Given the description of an element on the screen output the (x, y) to click on. 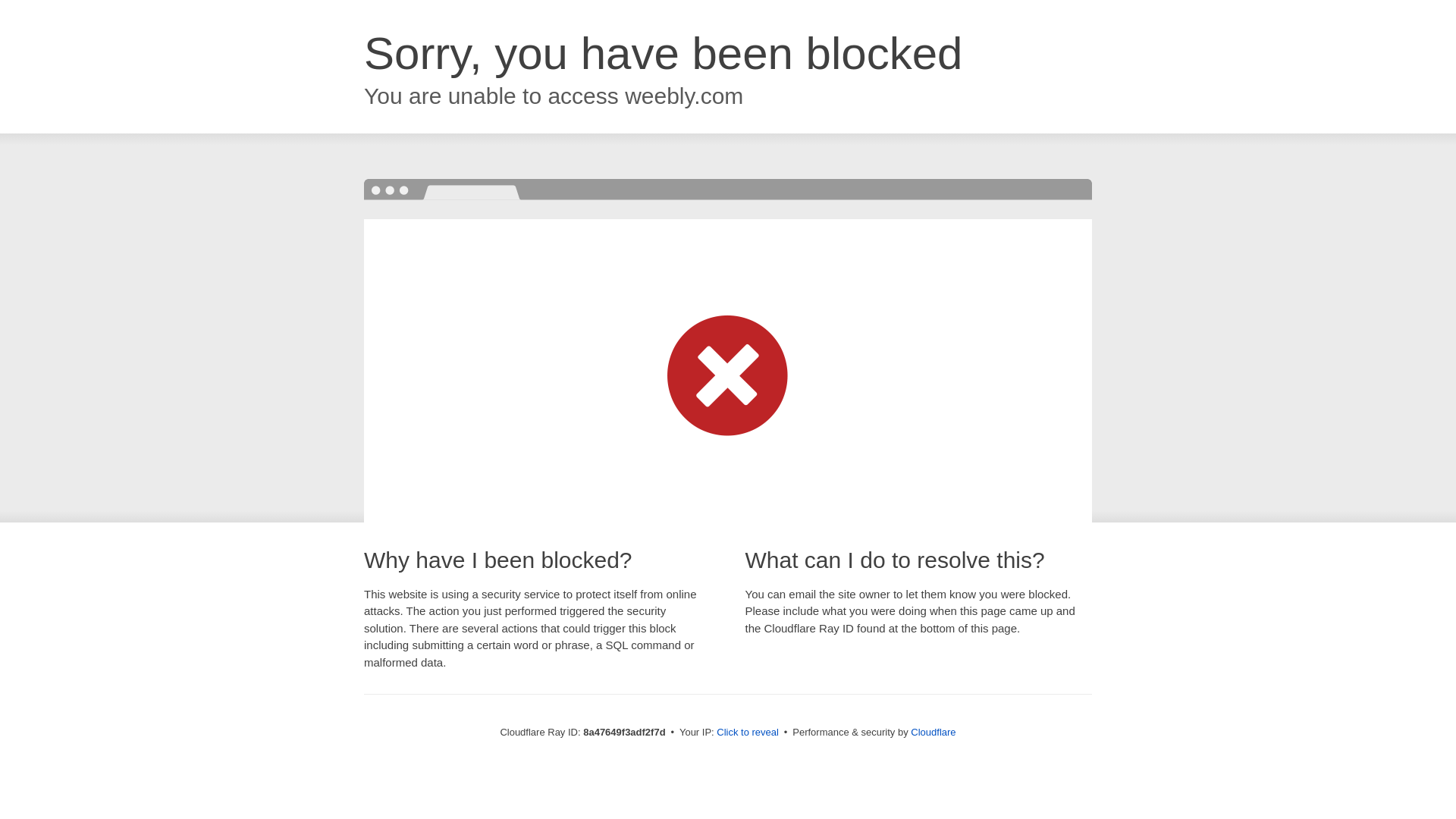
Cloudflare (933, 731)
Click to reveal (747, 732)
